Given the description of an element on the screen output the (x, y) to click on. 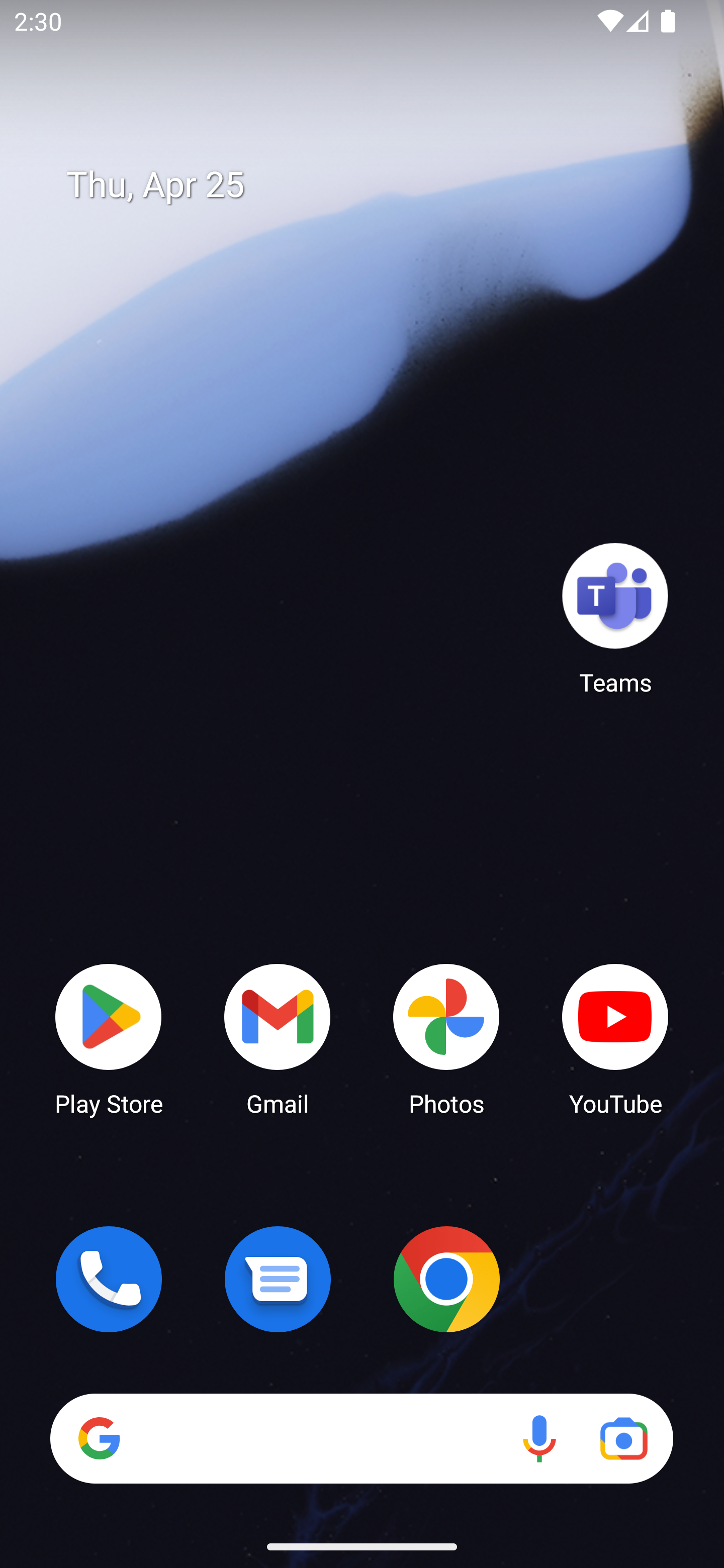
Thu, Apr 25 (375, 184)
Teams (615, 617)
Play Store (108, 1038)
Gmail (277, 1038)
Photos (445, 1038)
YouTube (615, 1038)
Phone (108, 1279)
Messages (277, 1279)
Chrome (446, 1279)
Search Voice search Google Lens (361, 1438)
Voice search (539, 1438)
Google Lens (623, 1438)
